Given the description of an element on the screen output the (x, y) to click on. 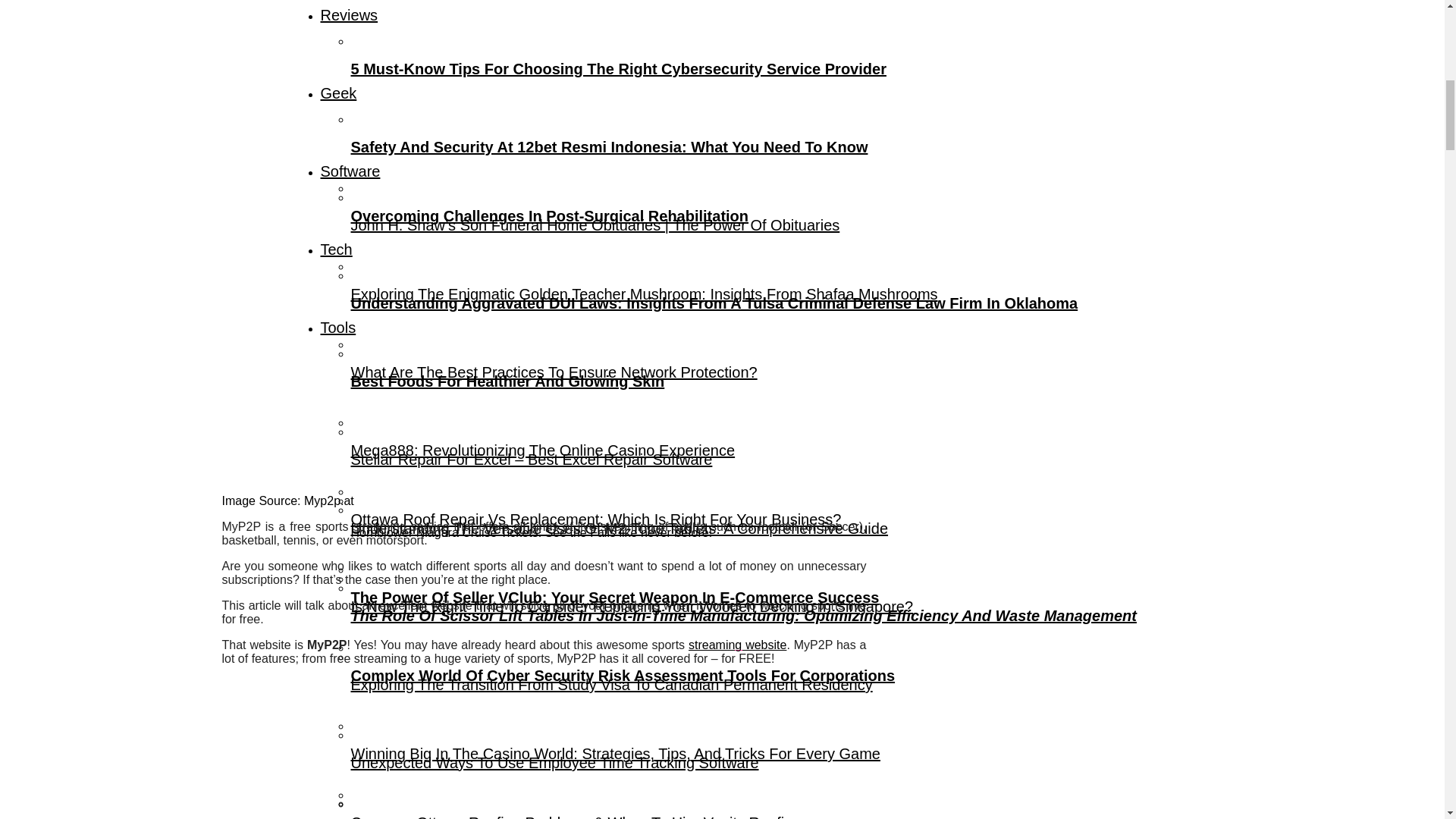
Understanding Slot Volatility: How It Affects Your Wins (786, 798)
